Given the description of an element on the screen output the (x, y) to click on. 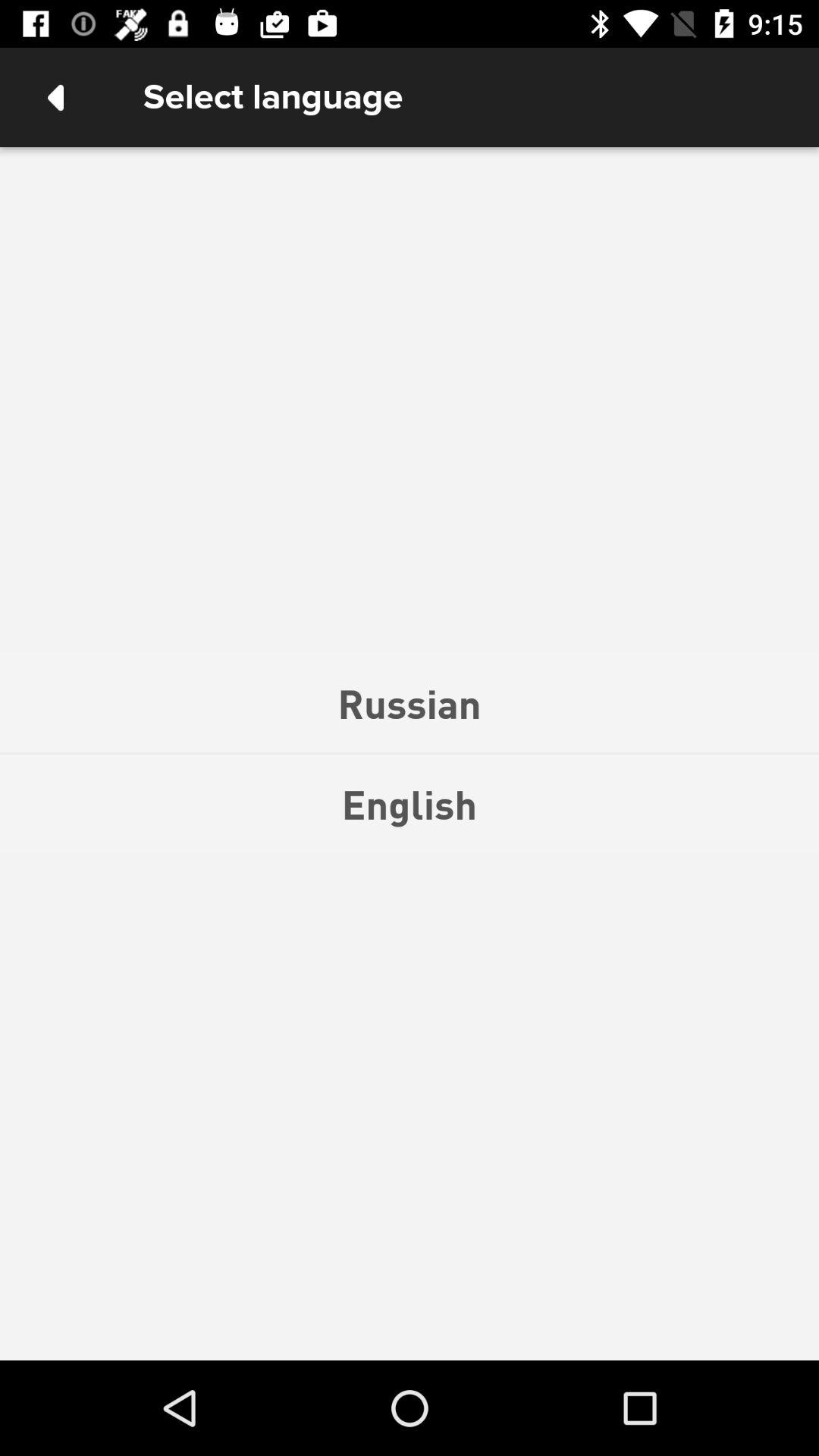
turn off the english (409, 803)
